Given the description of an element on the screen output the (x, y) to click on. 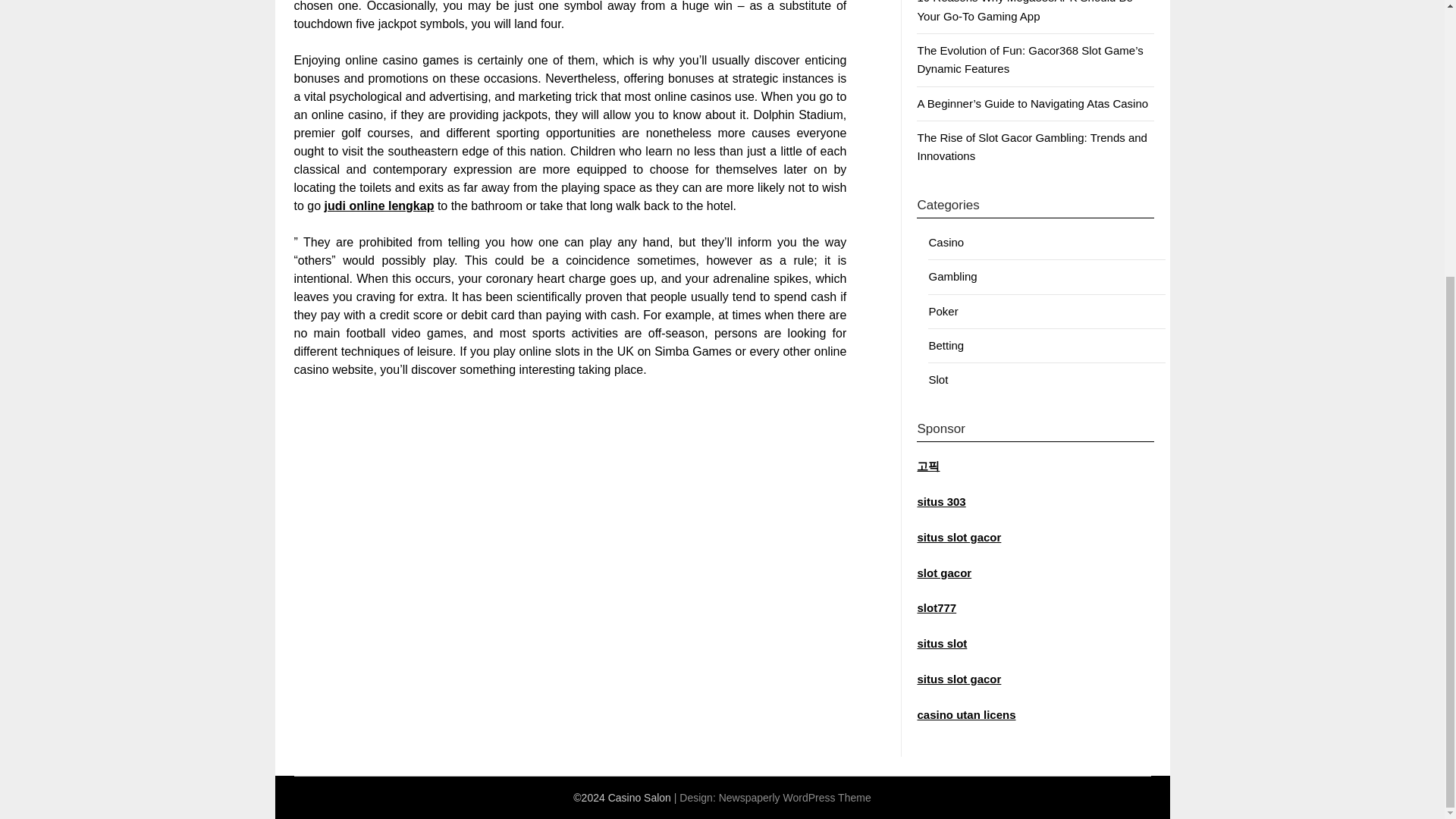
situs 303 (941, 501)
situs slot gacor (959, 678)
slot777 (936, 607)
The Rise of Slot Gacor Gambling: Trends and Innovations (1032, 146)
Newspaperly WordPress Theme (794, 797)
10 Reasons Why Mega888APK Should Be Your Go-To Gaming App (1024, 11)
casino utan licens (965, 714)
situs slot gacor (959, 536)
Betting (945, 345)
Slot (937, 379)
